Given the description of an element on the screen output the (x, y) to click on. 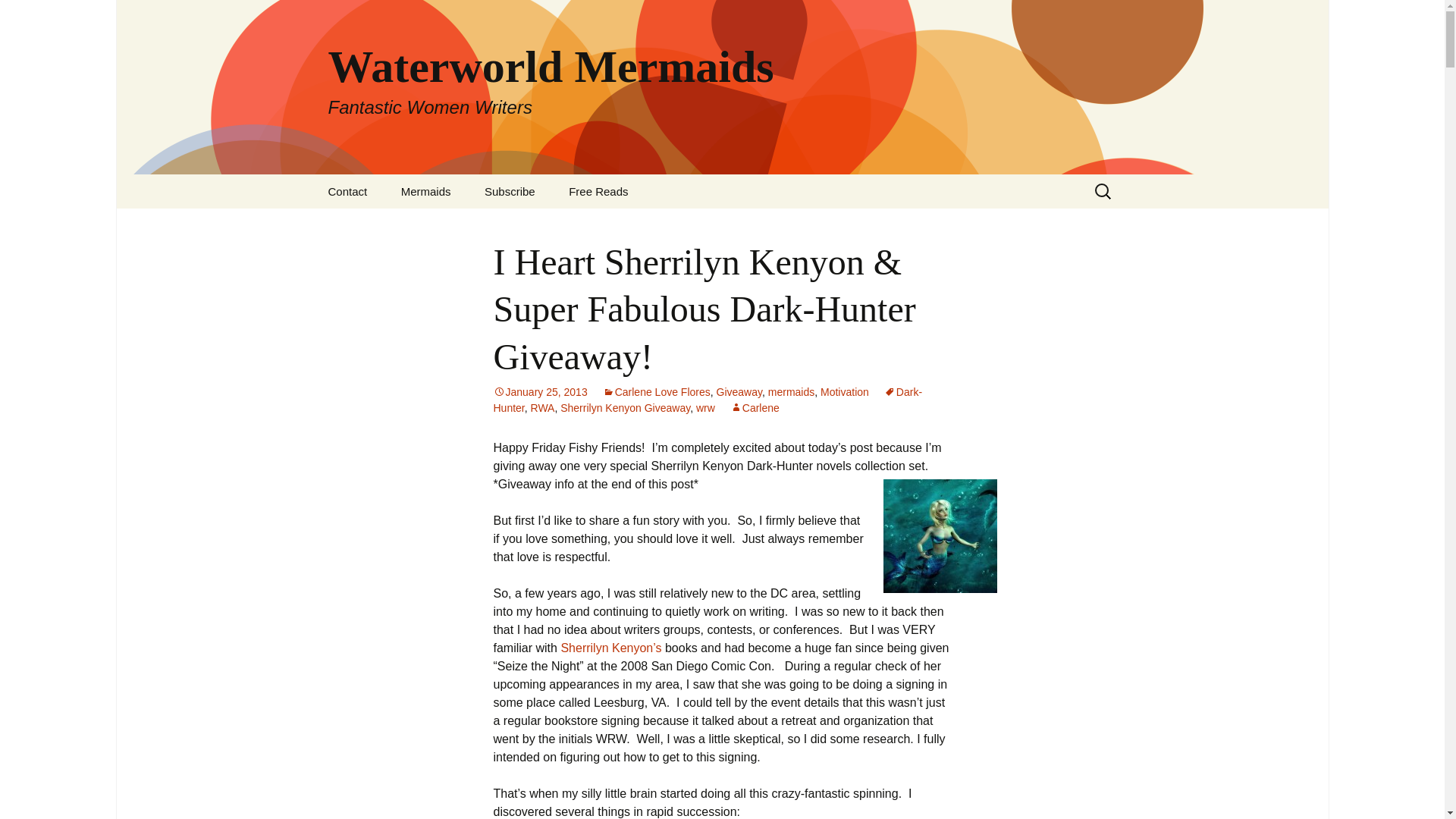
Mermaids (425, 191)
Subscribe (509, 191)
Search (18, 15)
Sherrilyn Kenyon Giveaway (625, 408)
Dark-Hunter (707, 399)
RWA (542, 408)
Carlene Love Flores (656, 391)
Giveaway (738, 391)
Contact (347, 191)
mermaids (790, 391)
January 25, 2013 (539, 391)
Motivation (845, 391)
wrw (704, 408)
